Given the description of an element on the screen output the (x, y) to click on. 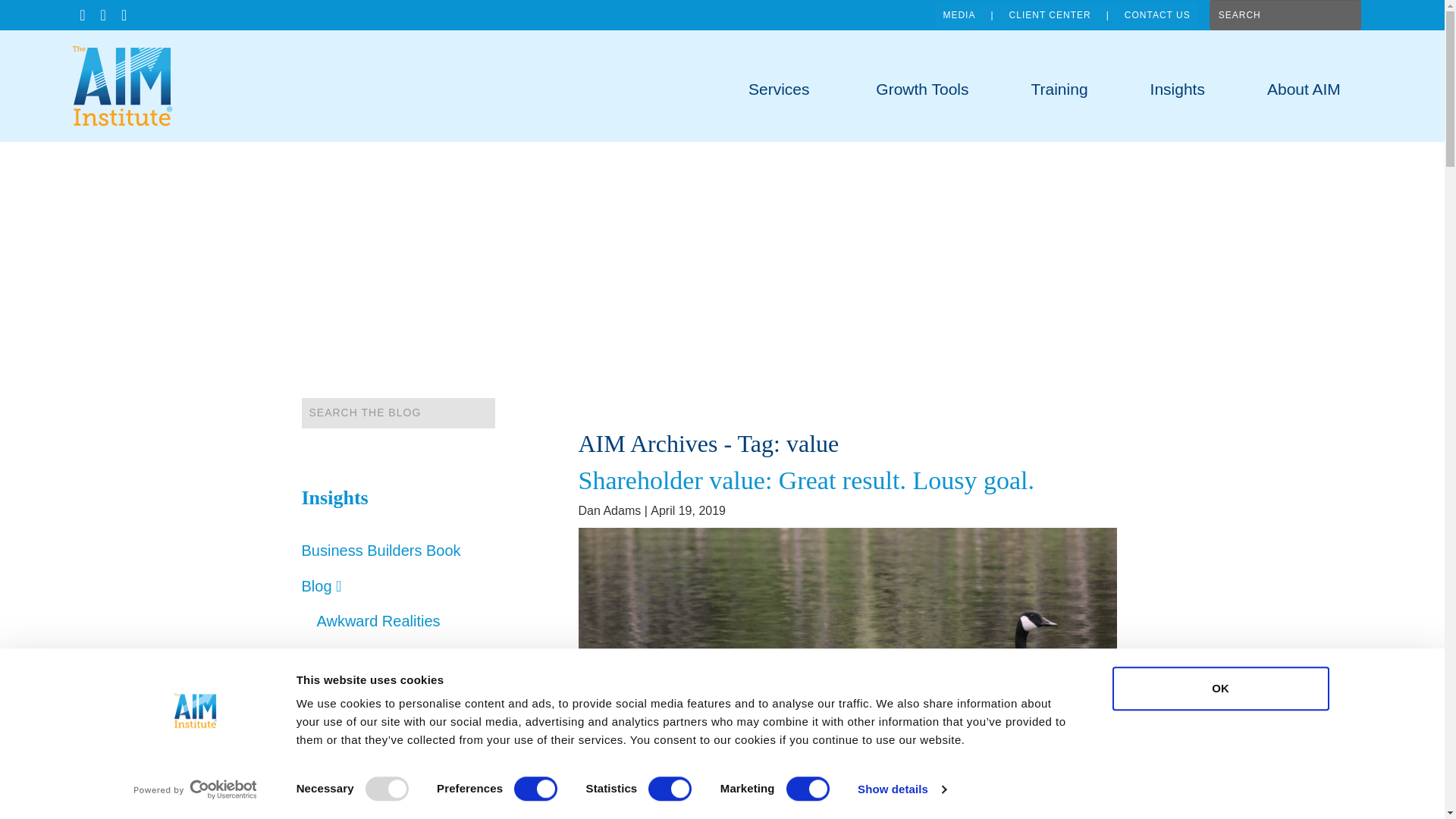
Show details (900, 789)
